Given the description of an element on the screen output the (x, y) to click on. 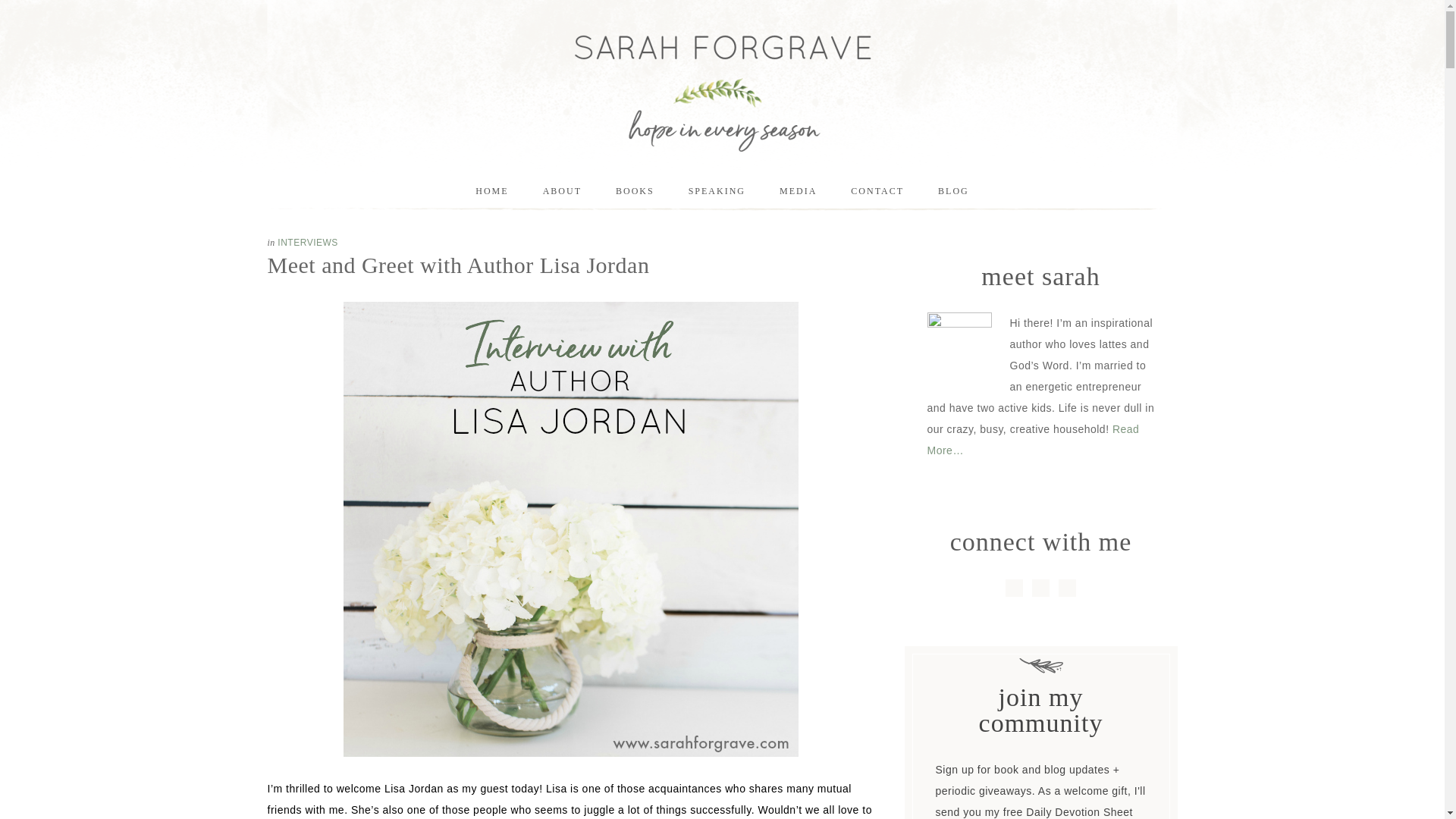
BOOKS (634, 190)
MEDIA (797, 190)
BLOG (953, 190)
ABOUT (561, 190)
INTERVIEWS (307, 242)
CONTACT (876, 190)
SPEAKING (716, 190)
HOME (491, 190)
